Given the description of an element on the screen output the (x, y) to click on. 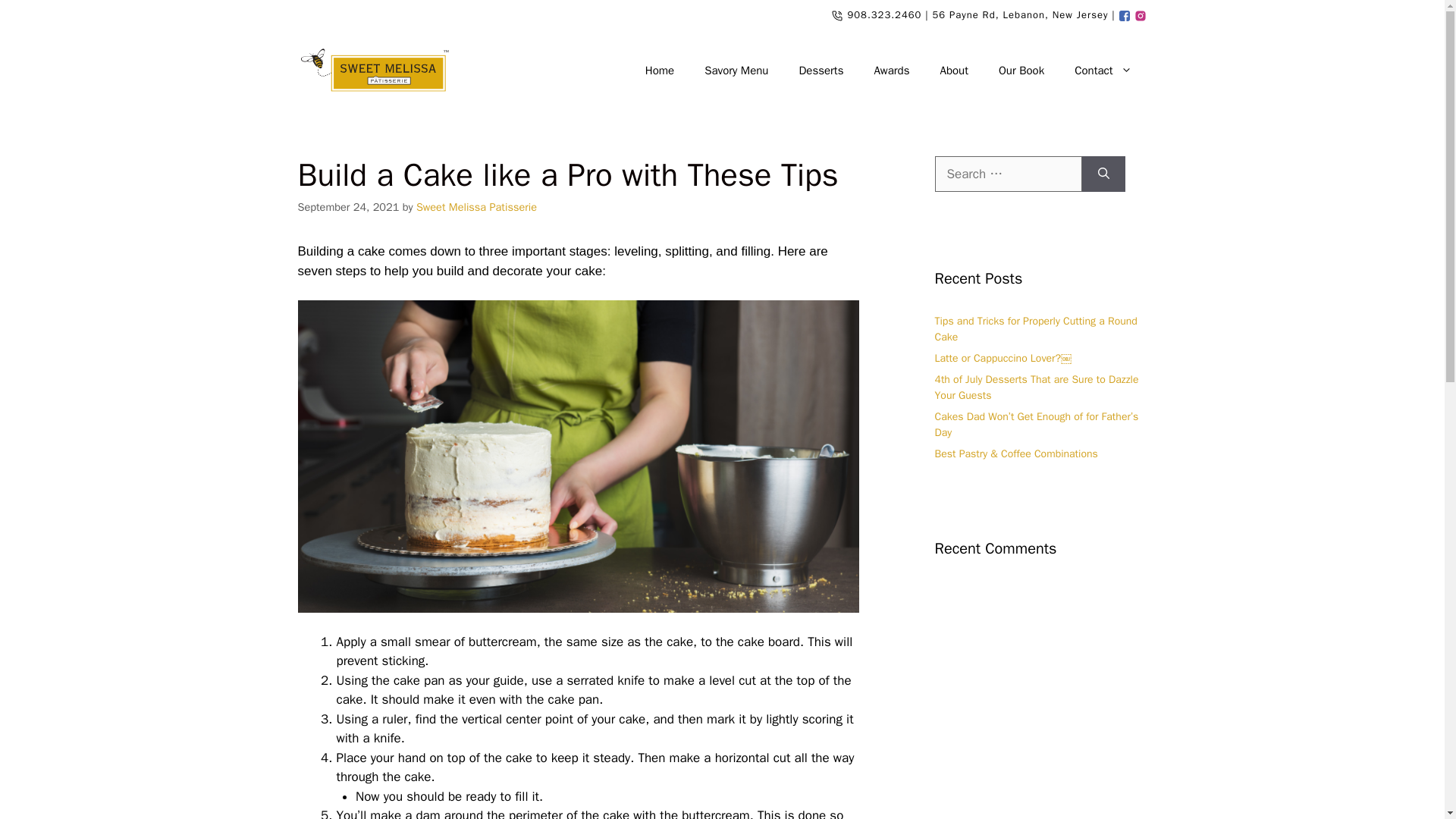
Lebanon Desserts (1140, 14)
908.323.2460 (884, 14)
Awards (891, 70)
Sweet Melissa Patisserie (476, 206)
Lebanon Cafe (1125, 14)
Home (659, 70)
Lebanon Patisserie (1103, 70)
Best Bakery in NJ (891, 70)
Lebanon Cafe (953, 70)
Custom Cakes Lebanon (1021, 70)
Sweet Melissa Patisserie (372, 70)
Baked Goods Lebanon (821, 70)
About (953, 70)
Savory Menu (735, 70)
Contact (1103, 70)
